Given the description of an element on the screen output the (x, y) to click on. 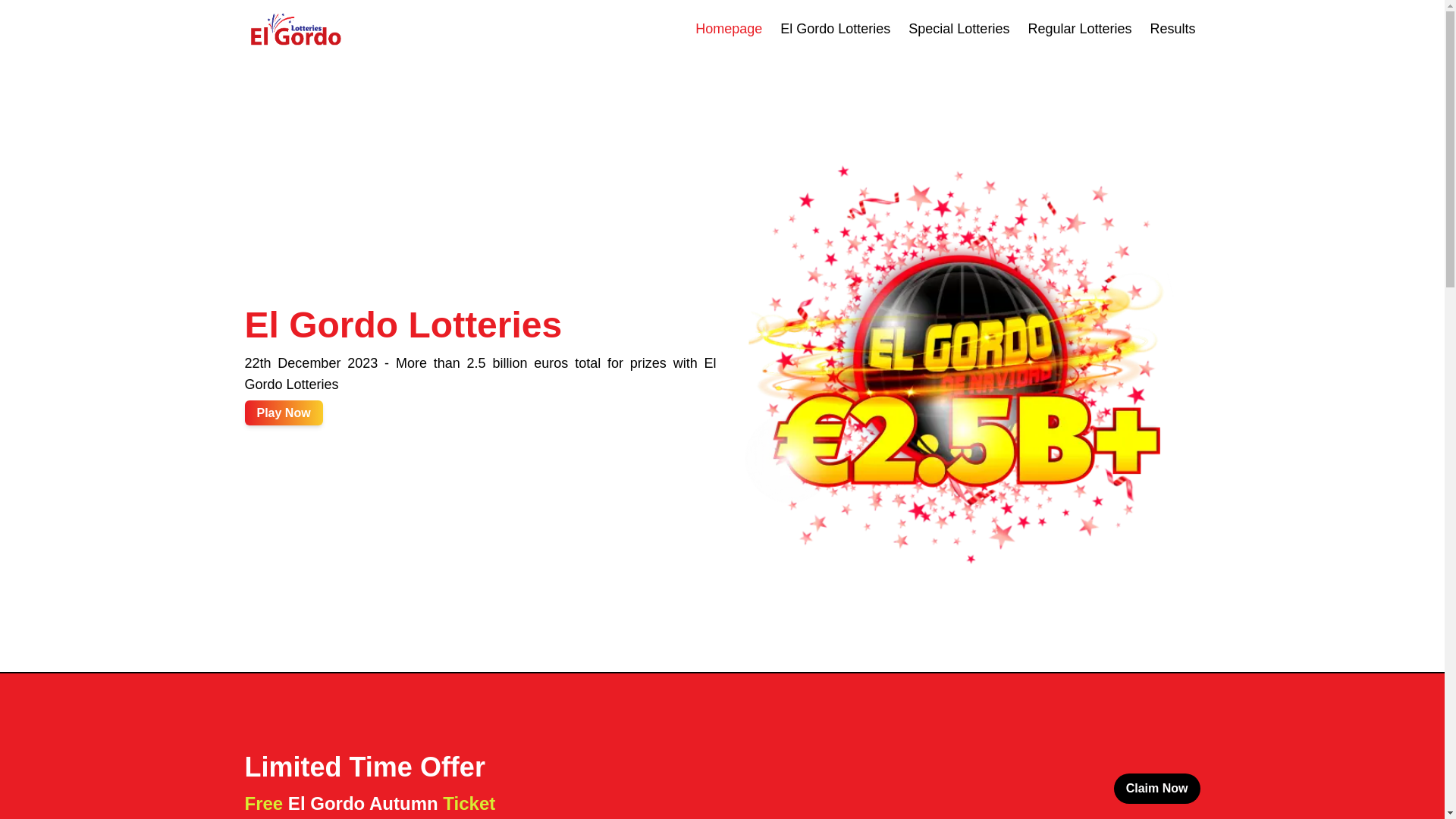
Results (1172, 28)
Special Lotteries (958, 28)
Claim Now (1156, 788)
Regular Lotteries (1079, 28)
Play Now (282, 412)
Homepage (728, 28)
El Gordo Lotteries (834, 28)
